Given the description of an element on the screen output the (x, y) to click on. 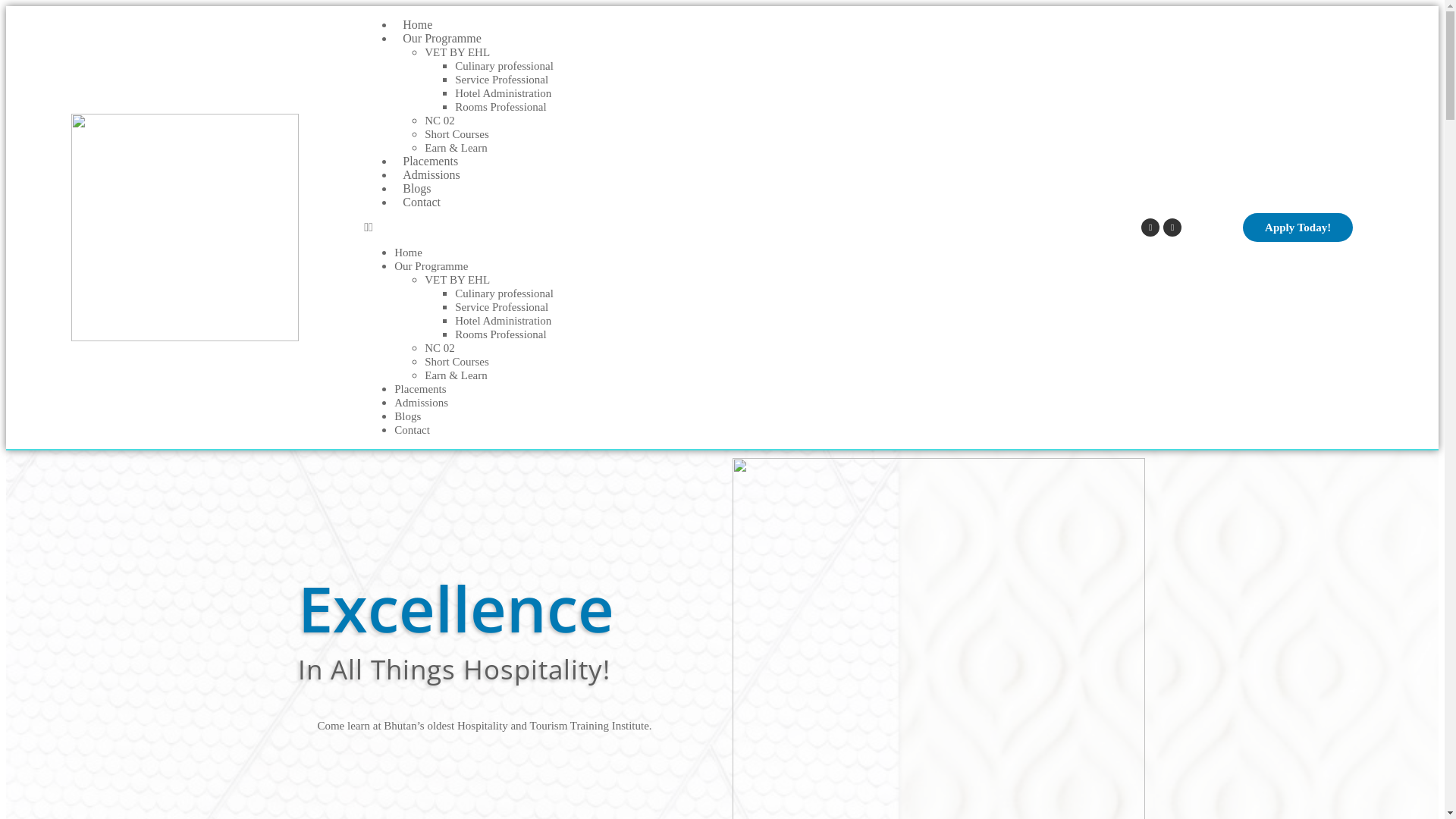
Rooms Professional Element type: text (500, 334)
VET BY EHL Element type: text (456, 279)
Admissions Element type: text (421, 402)
Culinary professional Element type: text (504, 65)
NC 02 Element type: text (439, 120)
Service Professional Element type: text (501, 307)
Short Courses Element type: text (456, 361)
Contact Element type: text (421, 201)
Earn & Learn Element type: text (455, 375)
Placements Element type: text (419, 388)
Admissions Element type: text (431, 174)
Our Programme Element type: text (441, 37)
Placements Element type: text (430, 160)
Hotel Administration Element type: text (503, 320)
Blogs Element type: text (407, 416)
Our Programme Element type: text (430, 266)
Service Professional Element type: text (501, 79)
Home Element type: text (408, 252)
VET BY EHL Element type: text (456, 52)
Blogs Element type: text (416, 187)
Contact Element type: text (411, 429)
Rooms Professional Element type: text (500, 106)
Hotel Administration Element type: text (503, 93)
Earn & Learn Element type: text (455, 147)
Culinary professional Element type: text (504, 293)
Apply Today! Element type: text (1297, 227)
NC 02 Element type: text (439, 348)
Home Element type: text (417, 24)
Short Courses Element type: text (456, 134)
